Given the description of an element on the screen output the (x, y) to click on. 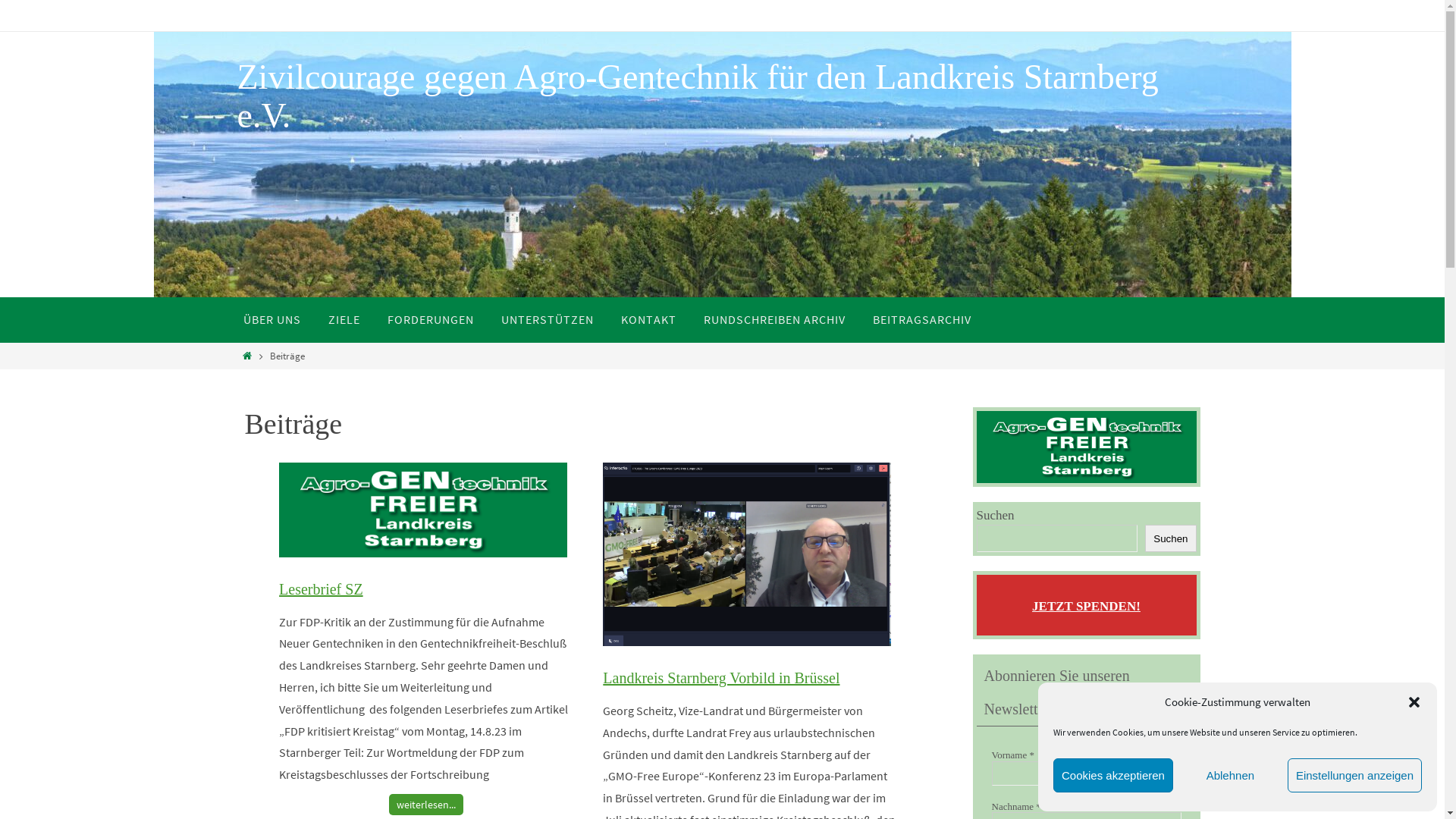
Suchen Element type: text (1170, 538)
Ablehnen Element type: text (1230, 775)
RUNDSCHREIBEN ARCHIV Element type: text (774, 319)
FORDERUNGEN Element type: text (429, 319)
Leserbrief SZ Element type: text (321, 588)
ZIELE Element type: text (343, 319)
KONTAKT Element type: text (647, 319)
JETZT SPENDEN! Element type: text (1086, 606)
Home Element type: text (247, 355)
Cookies akzeptieren Element type: text (1113, 775)
Leserbrief SZ Element type: hover (422, 552)
BEITRAGSARCHIV Element type: text (921, 319)
Einstellungen anzeigen Element type: text (1354, 775)
weiterlesen... Element type: text (426, 804)
Vorname Element type: hover (1086, 773)
